Given the description of an element on the screen output the (x, y) to click on. 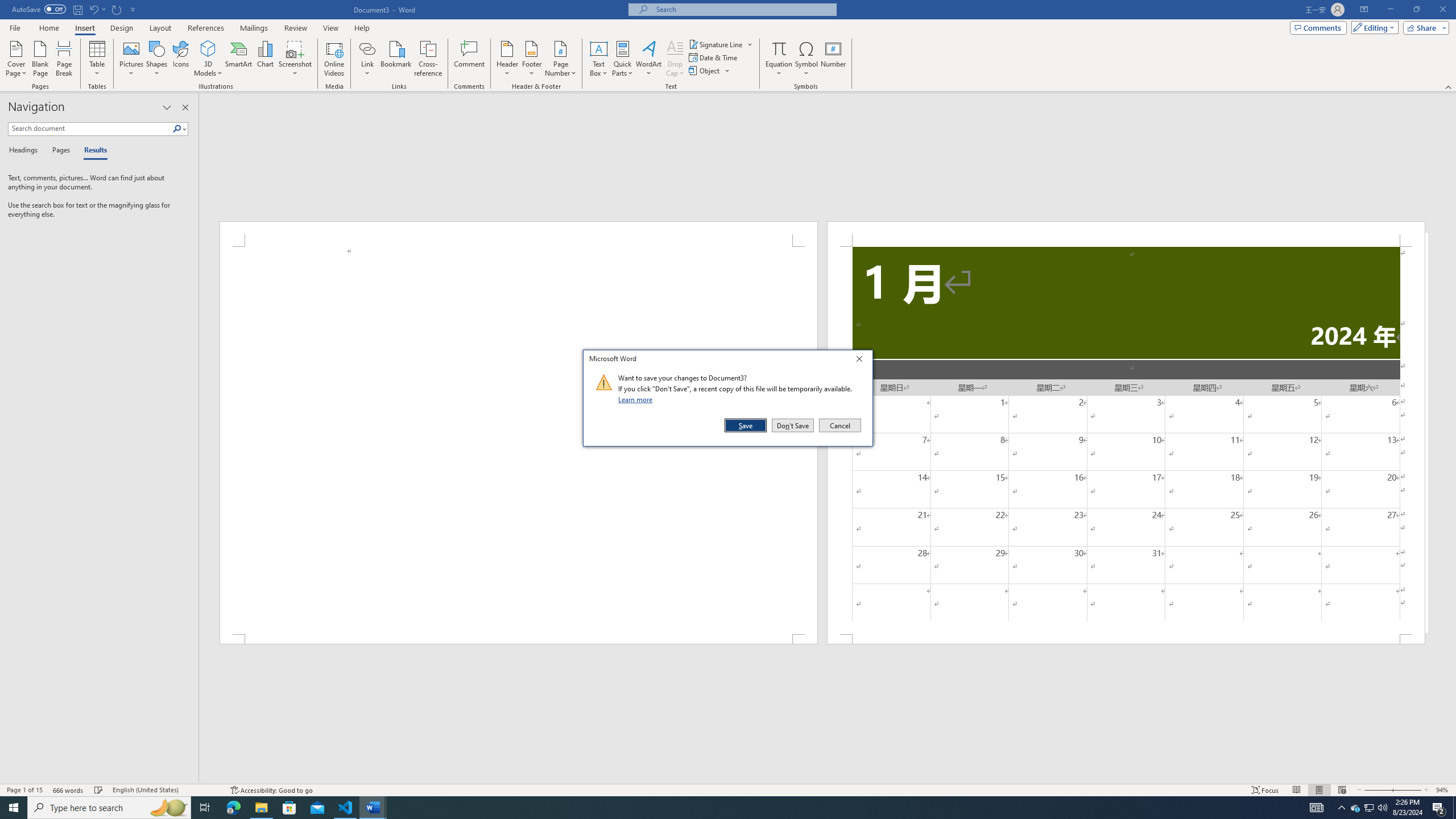
Footer (531, 58)
3D Models (208, 48)
Microsoft search (742, 9)
Pictures (131, 58)
Footer -Section 1- (1126, 638)
Microsoft Store (289, 807)
Chart... (265, 58)
User Promoted Notification Area (1368, 807)
Headings (25, 150)
Shapes (156, 58)
